Given the description of an element on the screen output the (x, y) to click on. 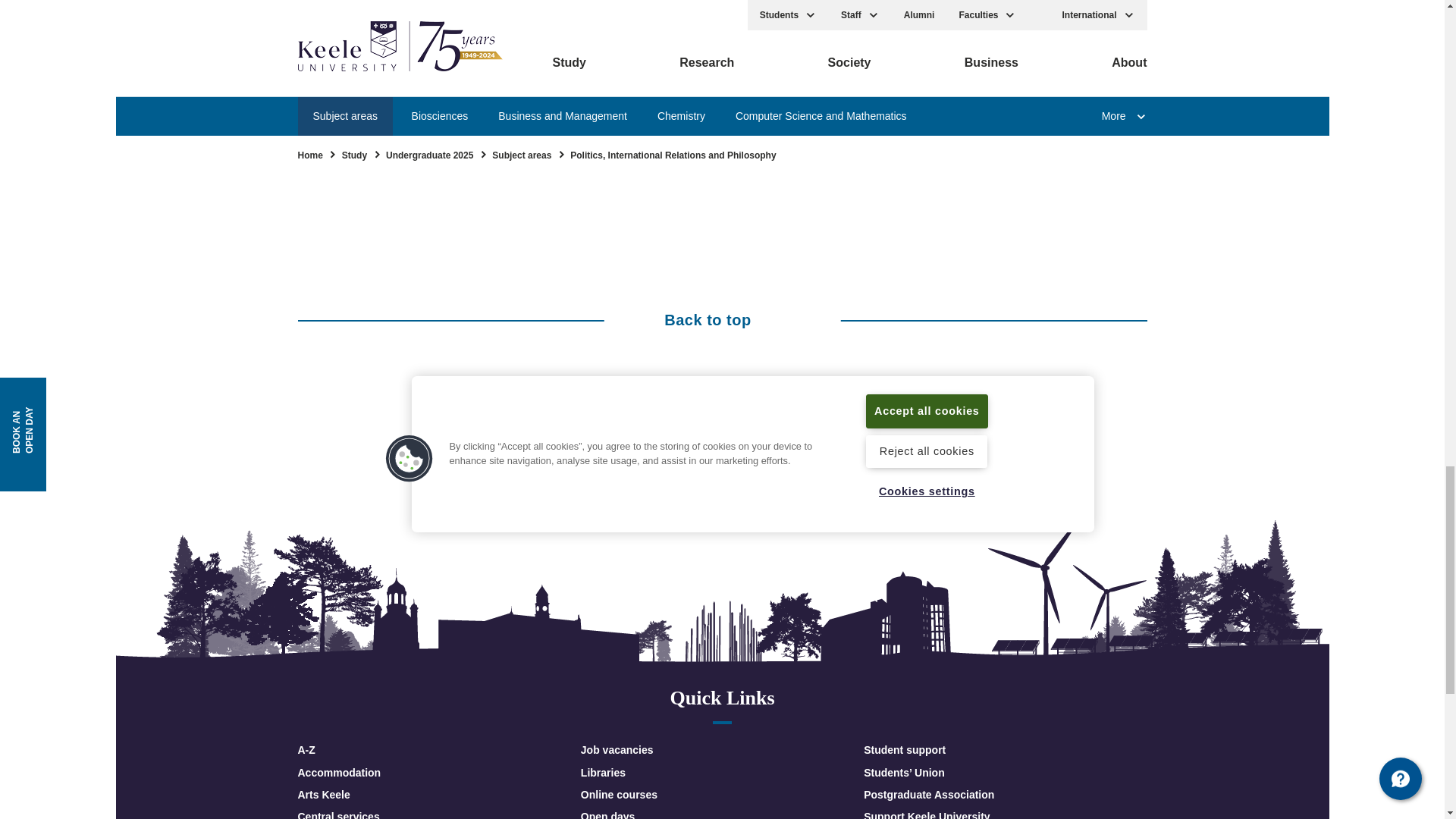
Link to Weibo (853, 436)
Link to Facebook (590, 436)
Link to Instagram (748, 436)
Link to Youtube (696, 436)
Link to LinkedIn (801, 436)
Link to Twitter (642, 436)
